Given the description of an element on the screen output the (x, y) to click on. 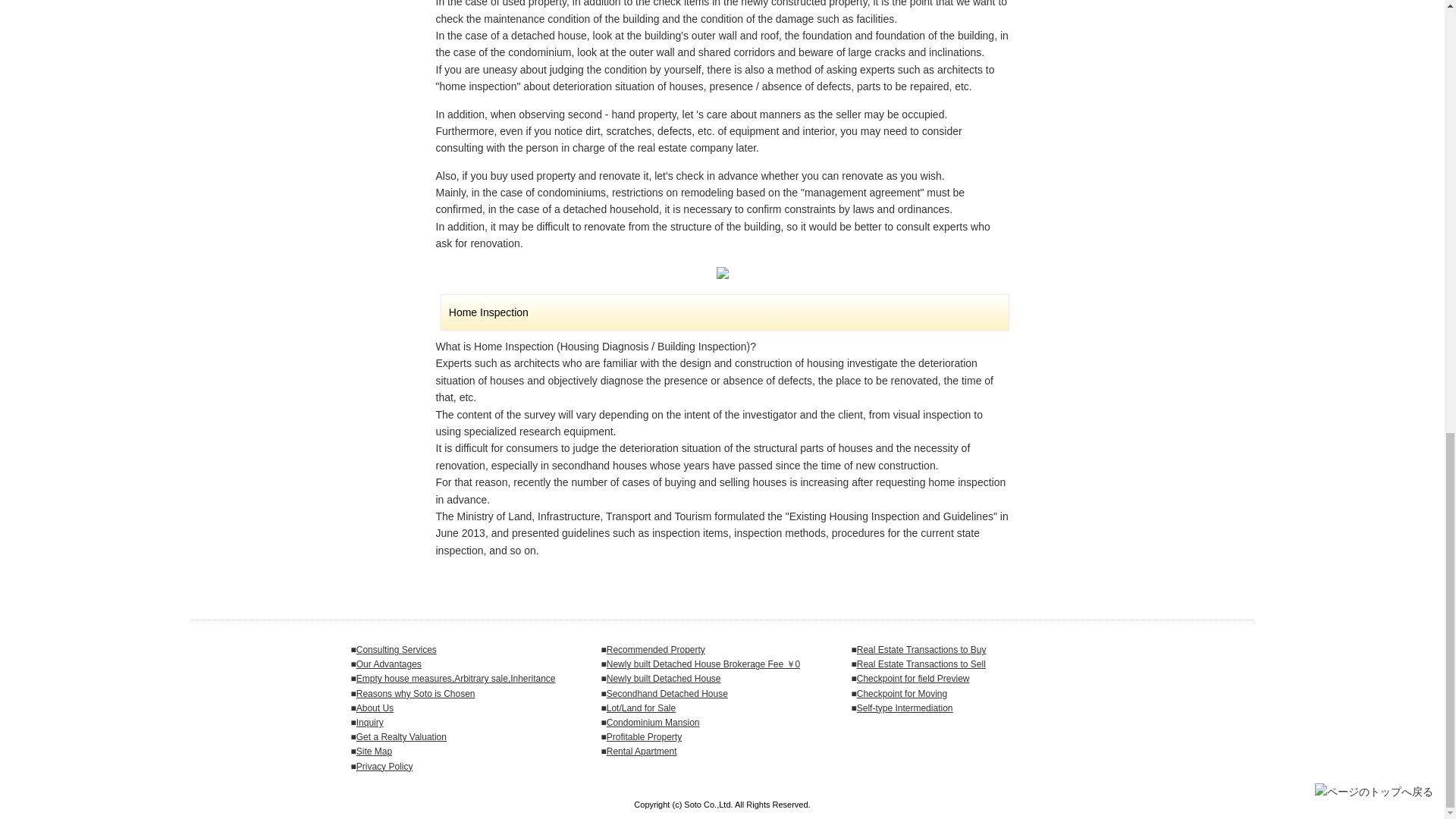
Empty house measures,Arbitrary sale,Inheritance (456, 678)
Consulting Services (396, 649)
Inquiry (370, 722)
Our Advantages (389, 664)
Reasons why Soto is Chosen (416, 693)
About Us (374, 707)
